Given the description of an element on the screen output the (x, y) to click on. 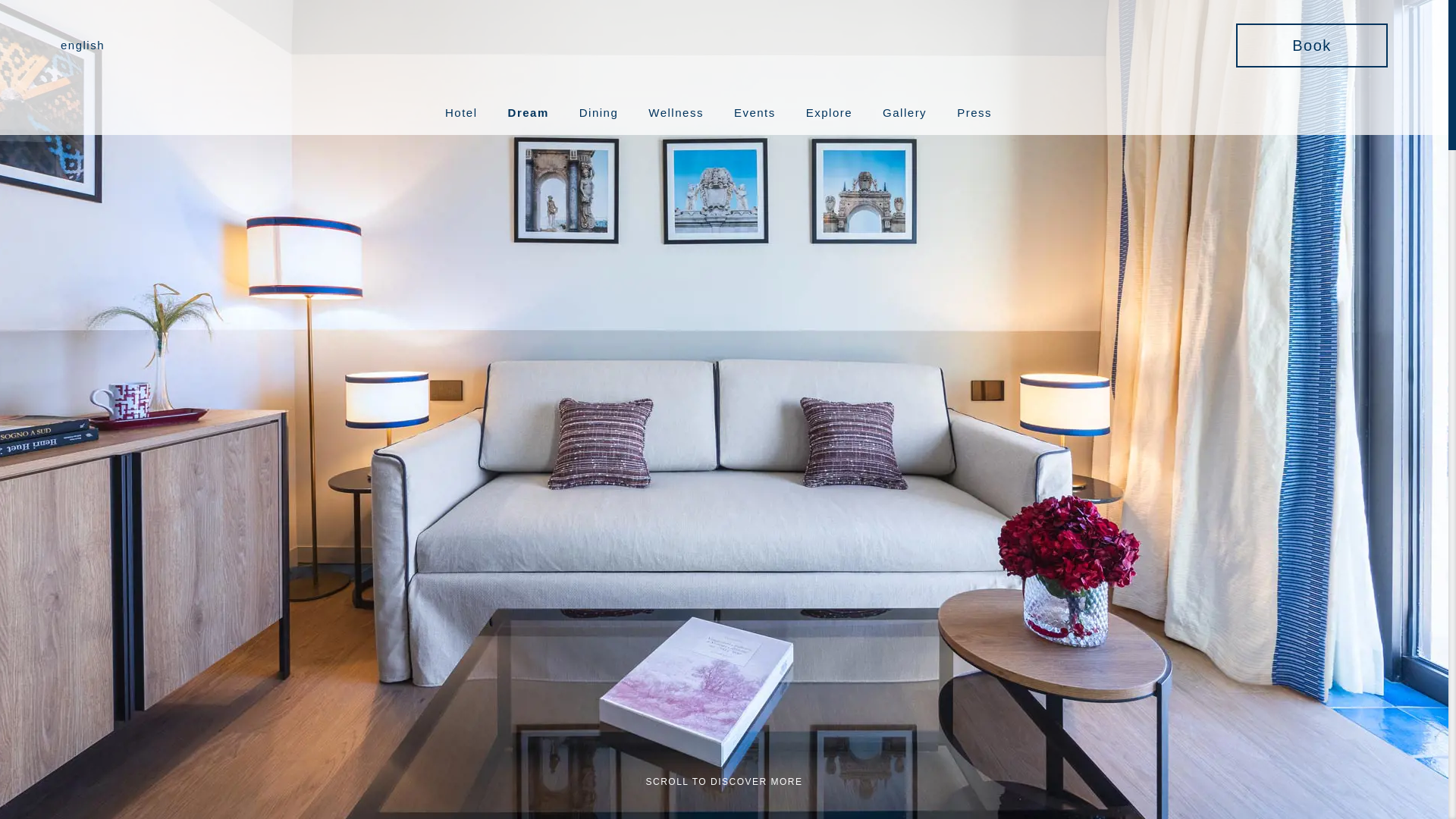
Gallery (904, 112)
Events (754, 112)
Events (754, 112)
Dream (528, 112)
Dining (598, 112)
Book (506, 441)
Dream (528, 112)
Dining (598, 112)
Wellness (675, 112)
Explore (828, 112)
Wellness (675, 112)
